Given the description of an element on the screen output the (x, y) to click on. 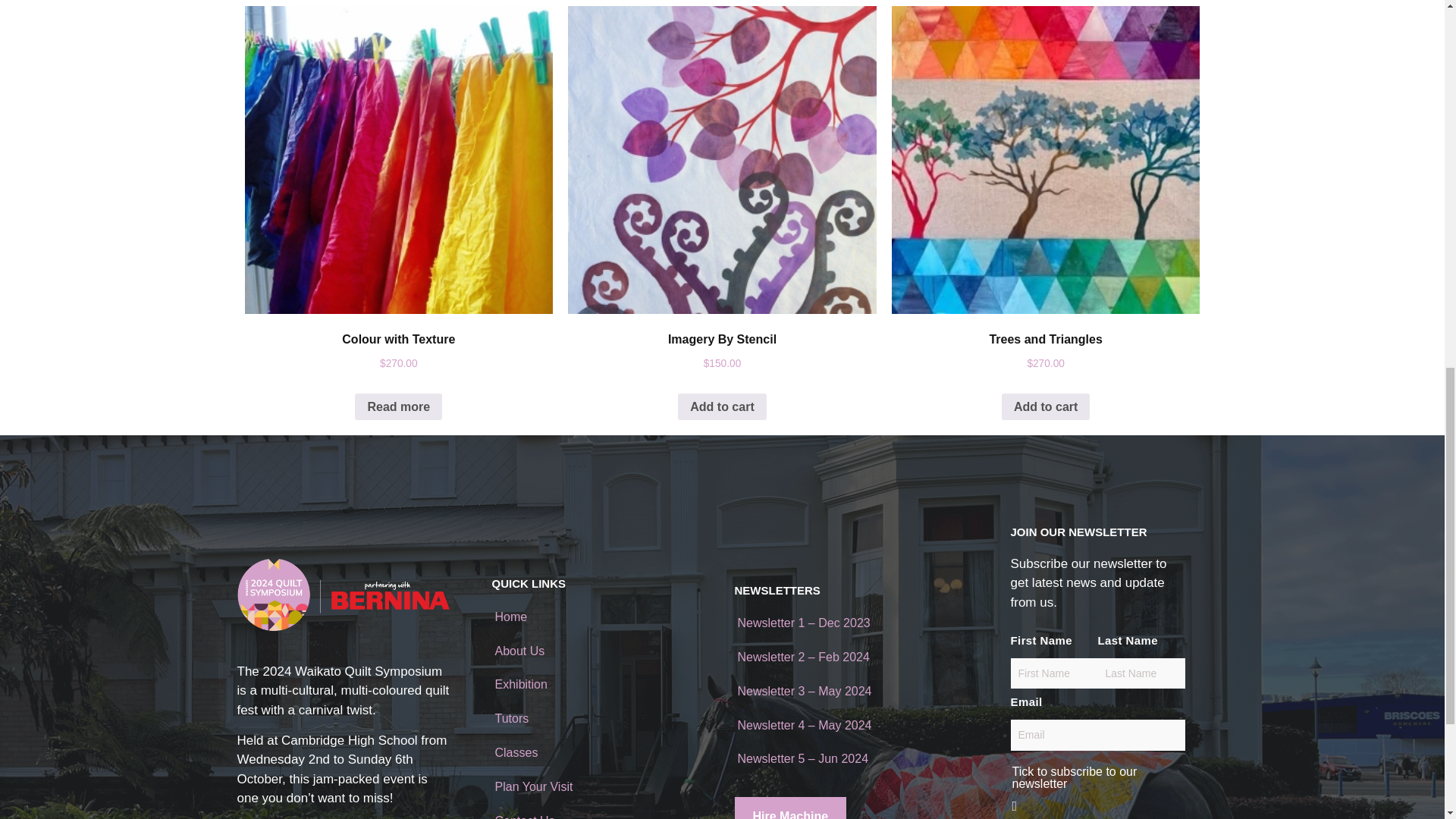
Read more (398, 406)
About Us (519, 650)
Classes (516, 752)
Add to cart (1045, 406)
Tutors (511, 717)
Contact Us (524, 816)
Plan Your Visit (533, 786)
Add to cart (721, 406)
Home (511, 616)
Exhibition (521, 684)
